Given the description of an element on the screen output the (x, y) to click on. 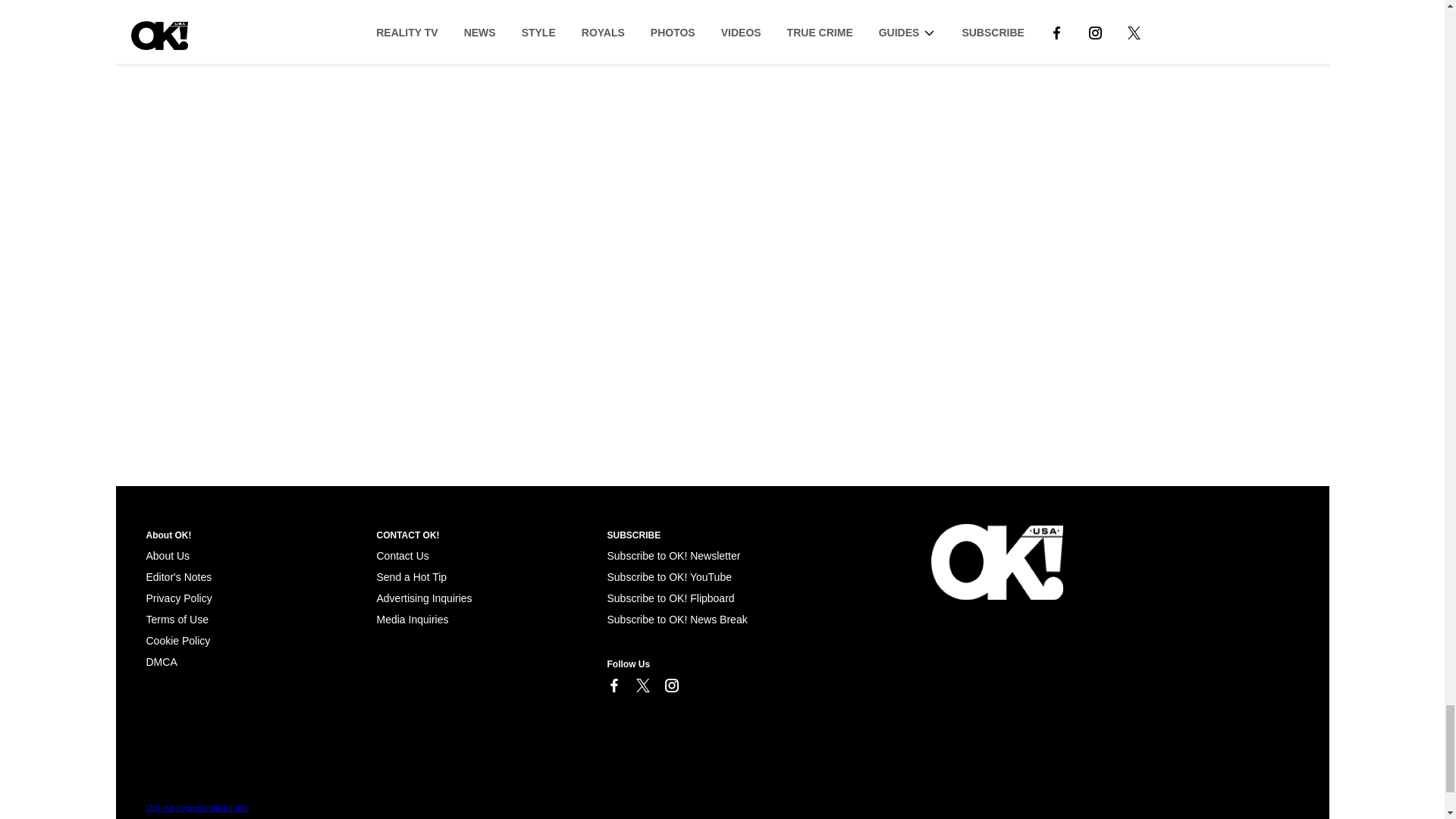
Privacy Policy (178, 598)
Send a Hot Tip (410, 576)
Terms of Use (176, 619)
Editor's Notes (178, 576)
Cookie Policy (160, 662)
Link to Facebook (613, 685)
Cookie Policy (177, 640)
Contact Us (401, 555)
Link to Instagram (670, 685)
About Us (167, 555)
Link to X (641, 685)
